Given the description of an element on the screen output the (x, y) to click on. 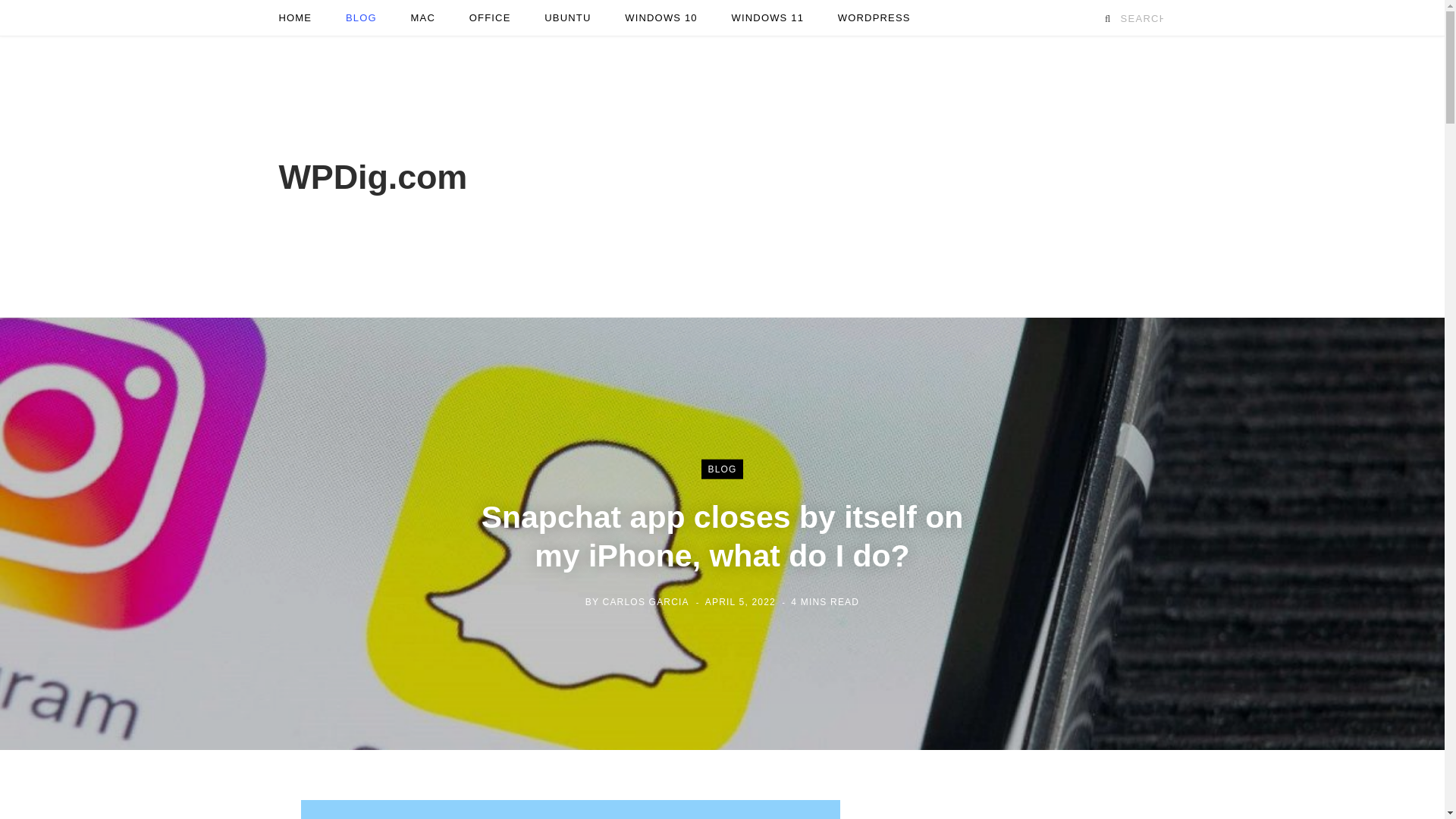
HOME (295, 18)
OFFICE (489, 18)
BLOG (360, 18)
Posts by Carlos Garcia (645, 601)
BLOG (721, 469)
WINDOWS 11 (767, 18)
WORDPRESS (874, 18)
CARLOS GARCIA (645, 601)
UBUNTU (567, 18)
WPDig.com (373, 175)
MAC (422, 18)
Advertisement (890, 176)
WPDig.com (373, 175)
WINDOWS 10 (660, 18)
